Given the description of an element on the screen output the (x, y) to click on. 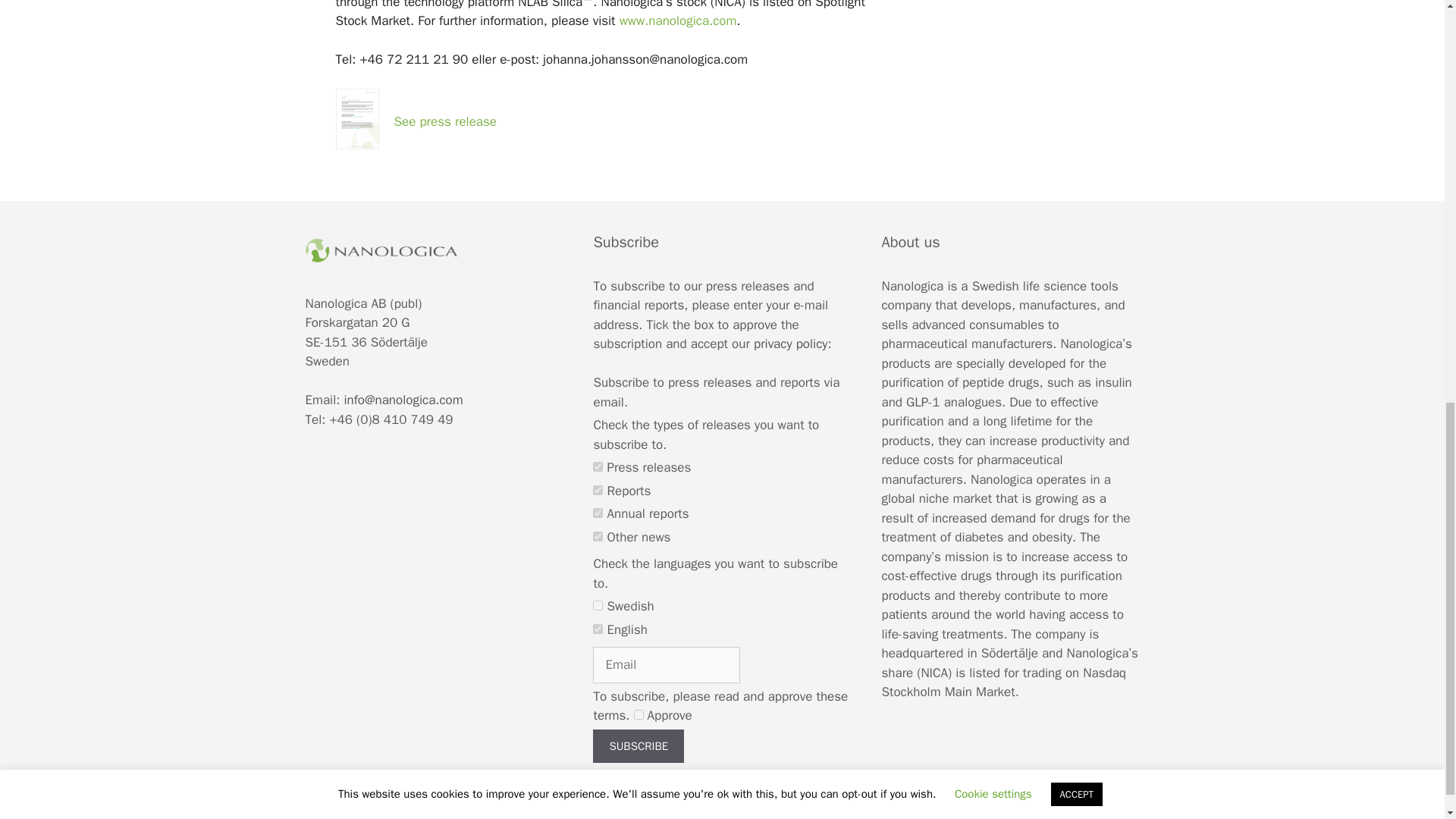
Scroll back to top (1406, 720)
on (597, 628)
on (638, 714)
on (597, 466)
on (597, 605)
on (597, 490)
on (597, 536)
on (597, 512)
